Given the description of an element on the screen output the (x, y) to click on. 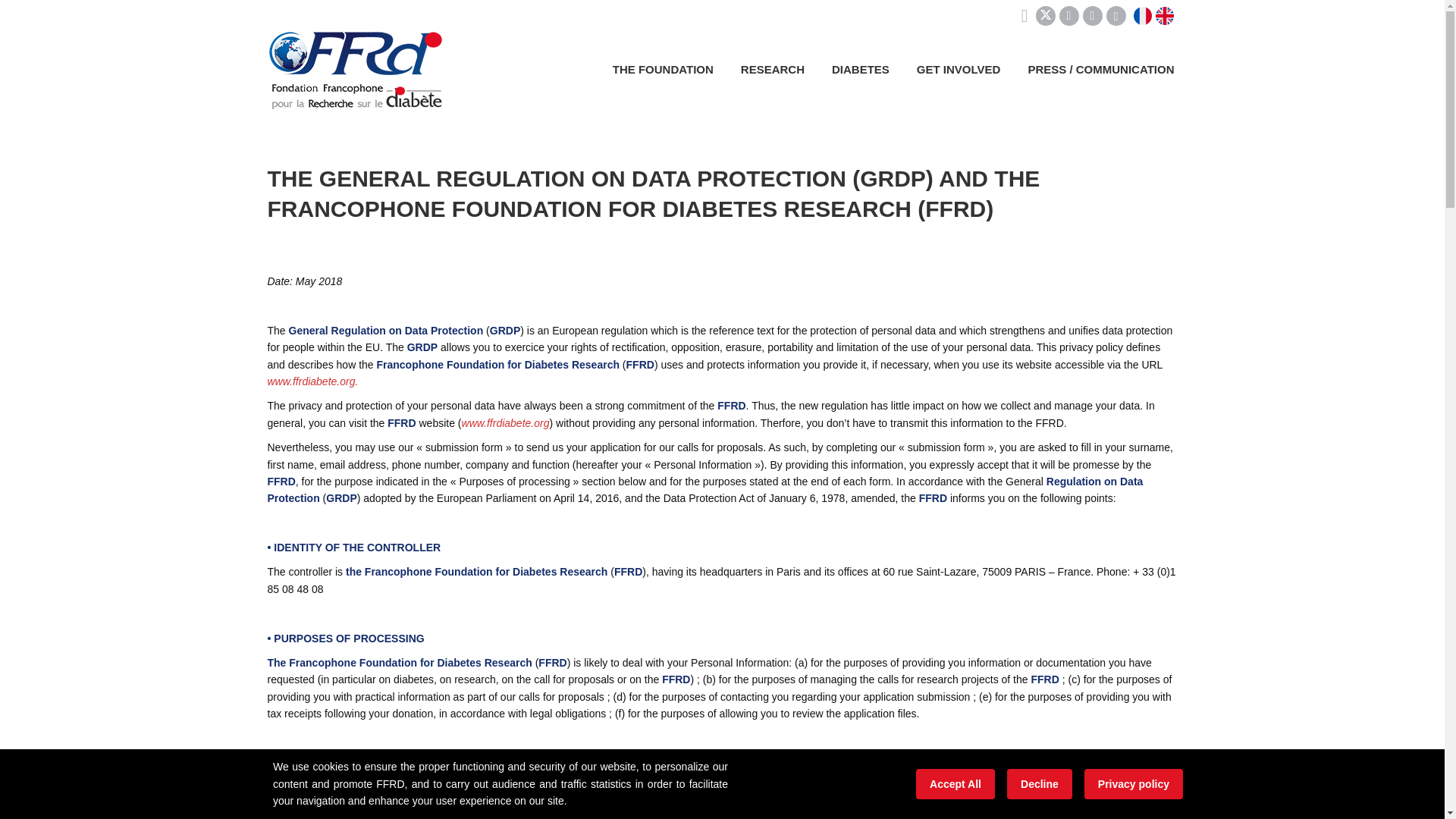
X page opens in new window (1045, 15)
Linkedin page opens in new window (1068, 15)
Go! (24, 16)
DIABETES (860, 68)
RESEARCH (773, 68)
THE FOUNDATION (663, 68)
GET INVOLVED (959, 68)
Mail page opens in new window (1092, 15)
